Given the description of an element on the screen output the (x, y) to click on. 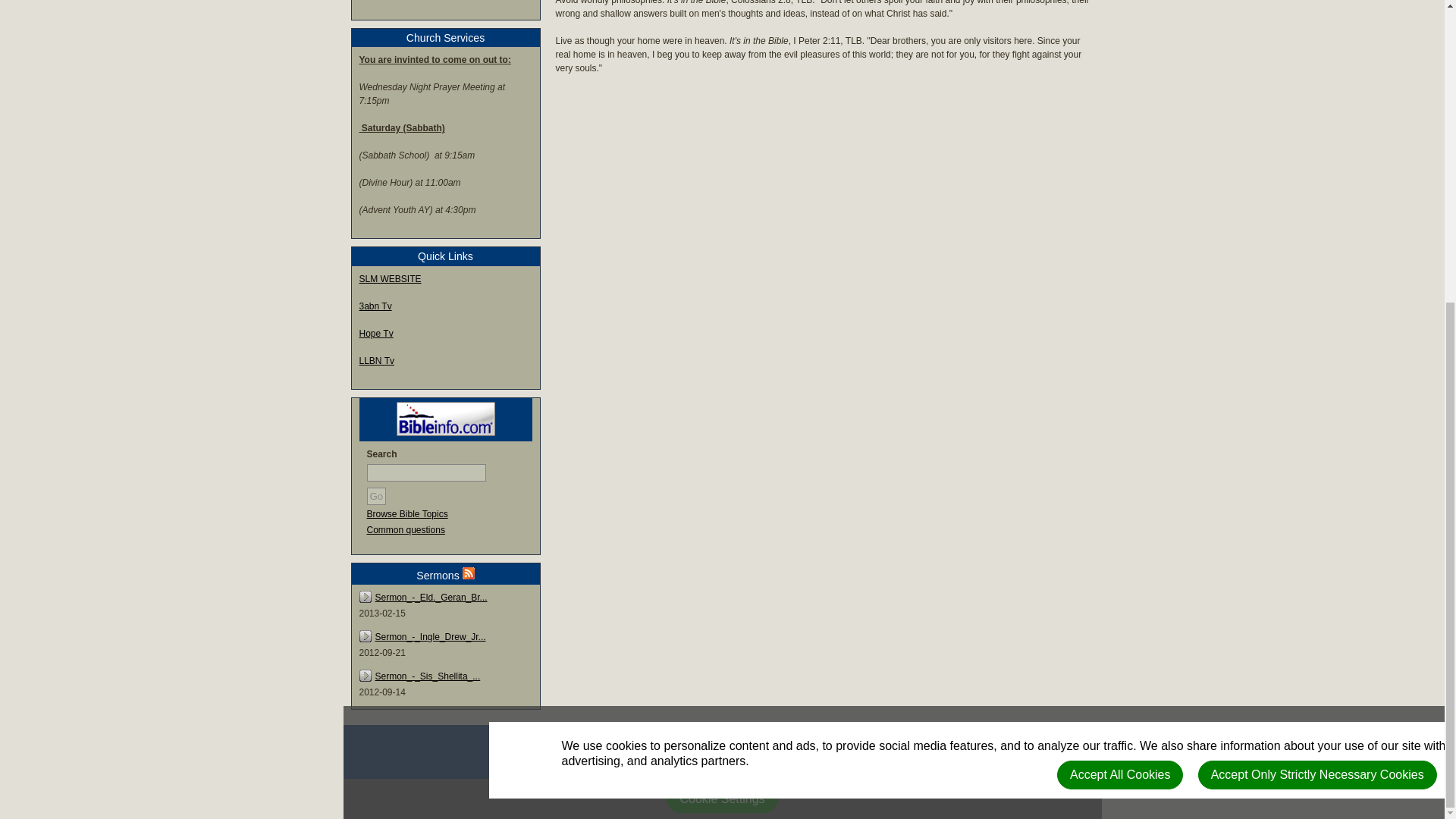
3abn Tv (375, 305)
Go (376, 496)
Common questions (405, 529)
Browse Bible Topics (407, 513)
Hope Tv (376, 332)
Go (376, 496)
SLM WEBSITE (390, 277)
Log in (696, 741)
LLBN Tv (376, 359)
